Given the description of an element on the screen output the (x, y) to click on. 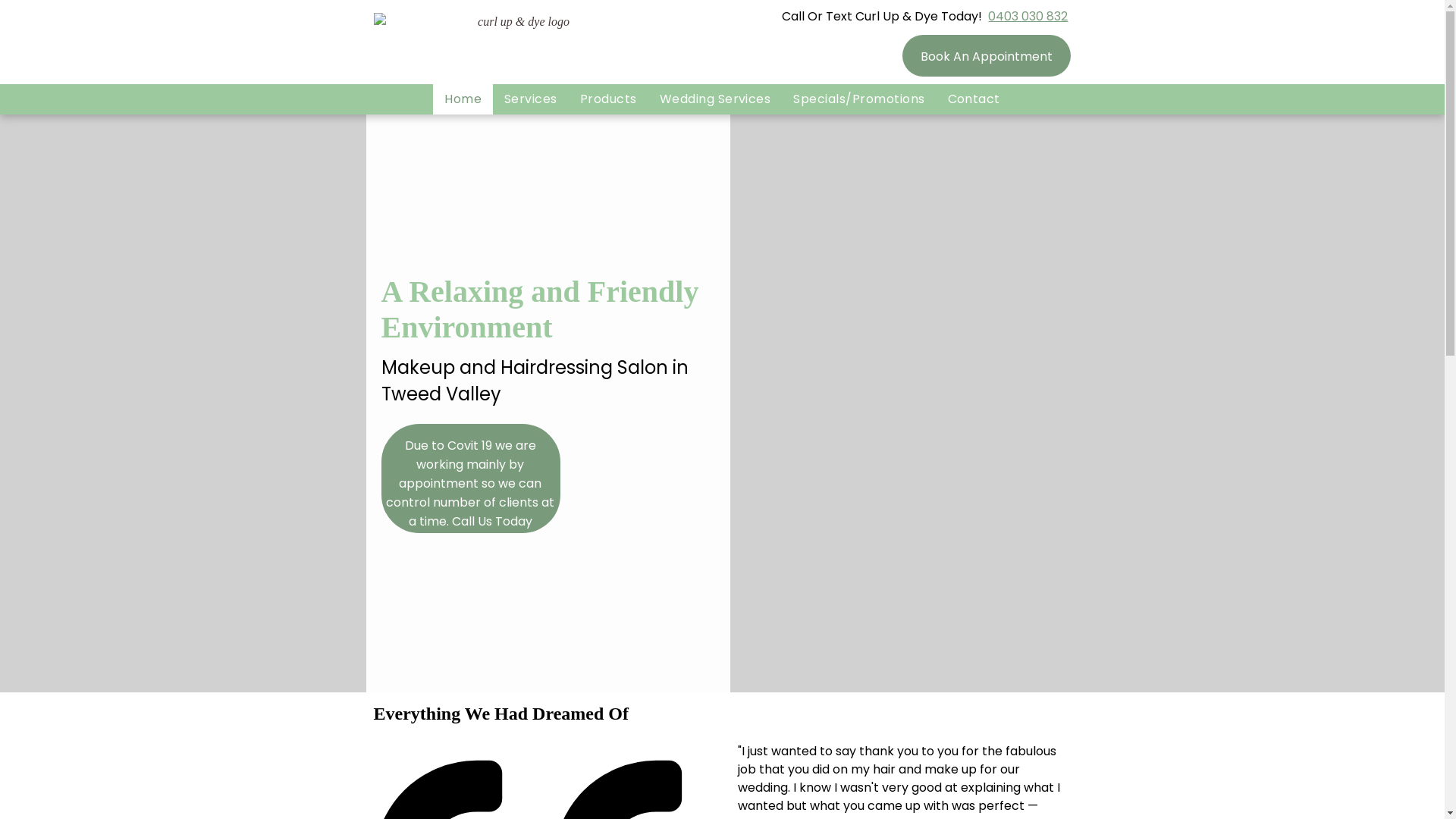
Specials/Promotions Element type: text (858, 99)
Contact Element type: text (973, 99)
0403 030 832 Element type: text (1027, 16)
Book An Appointment Element type: text (986, 55)
Home Element type: text (462, 99)
Wedding Services Element type: text (715, 99)
Products Element type: text (608, 99)
Services Element type: text (530, 99)
